Given the description of an element on the screen output the (x, y) to click on. 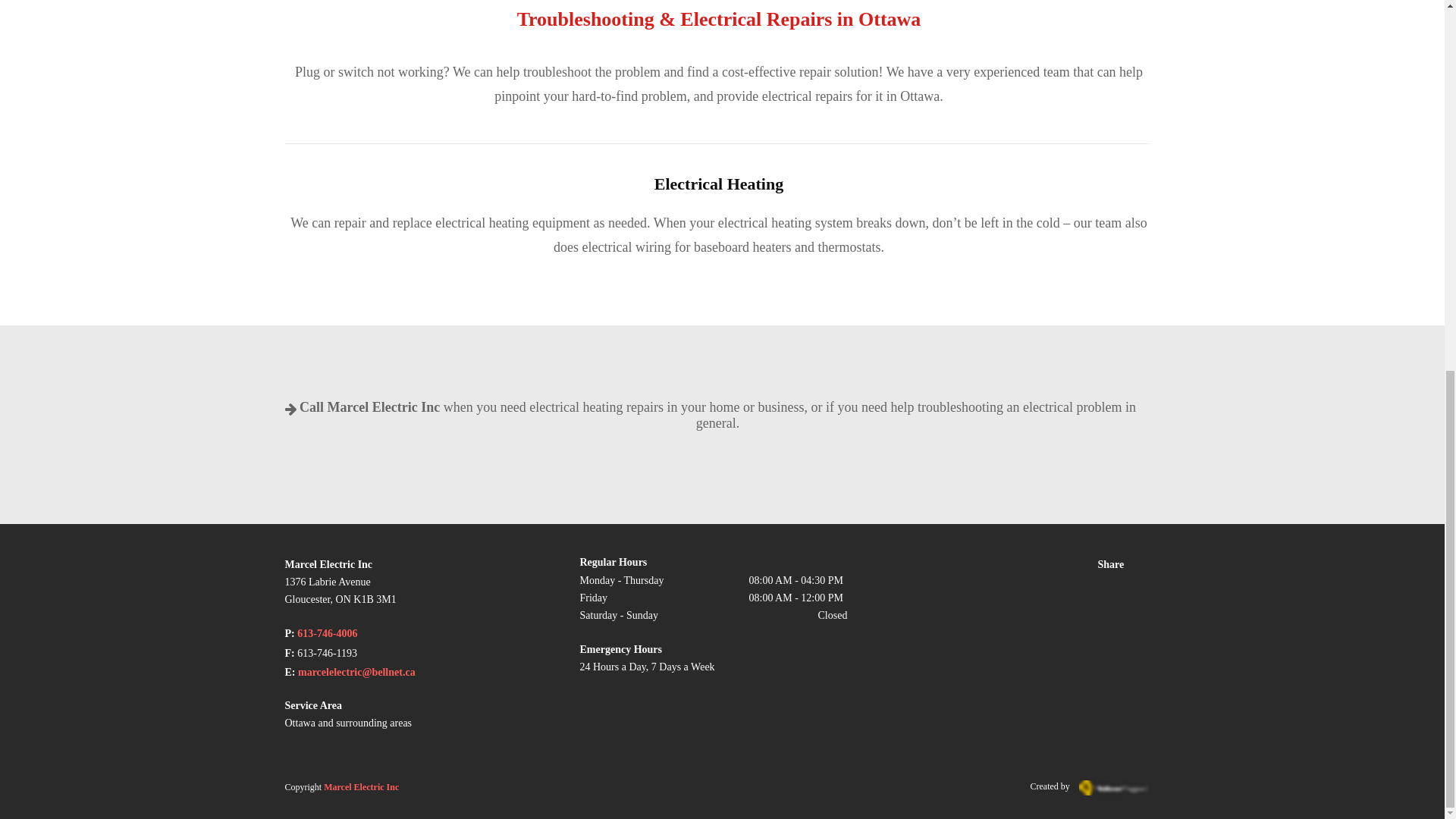
Marcel Electric Inc (360, 787)
613-746-4006 (326, 633)
Call Marcel Electric Inc (369, 408)
